Given the description of an element on the screen output the (x, y) to click on. 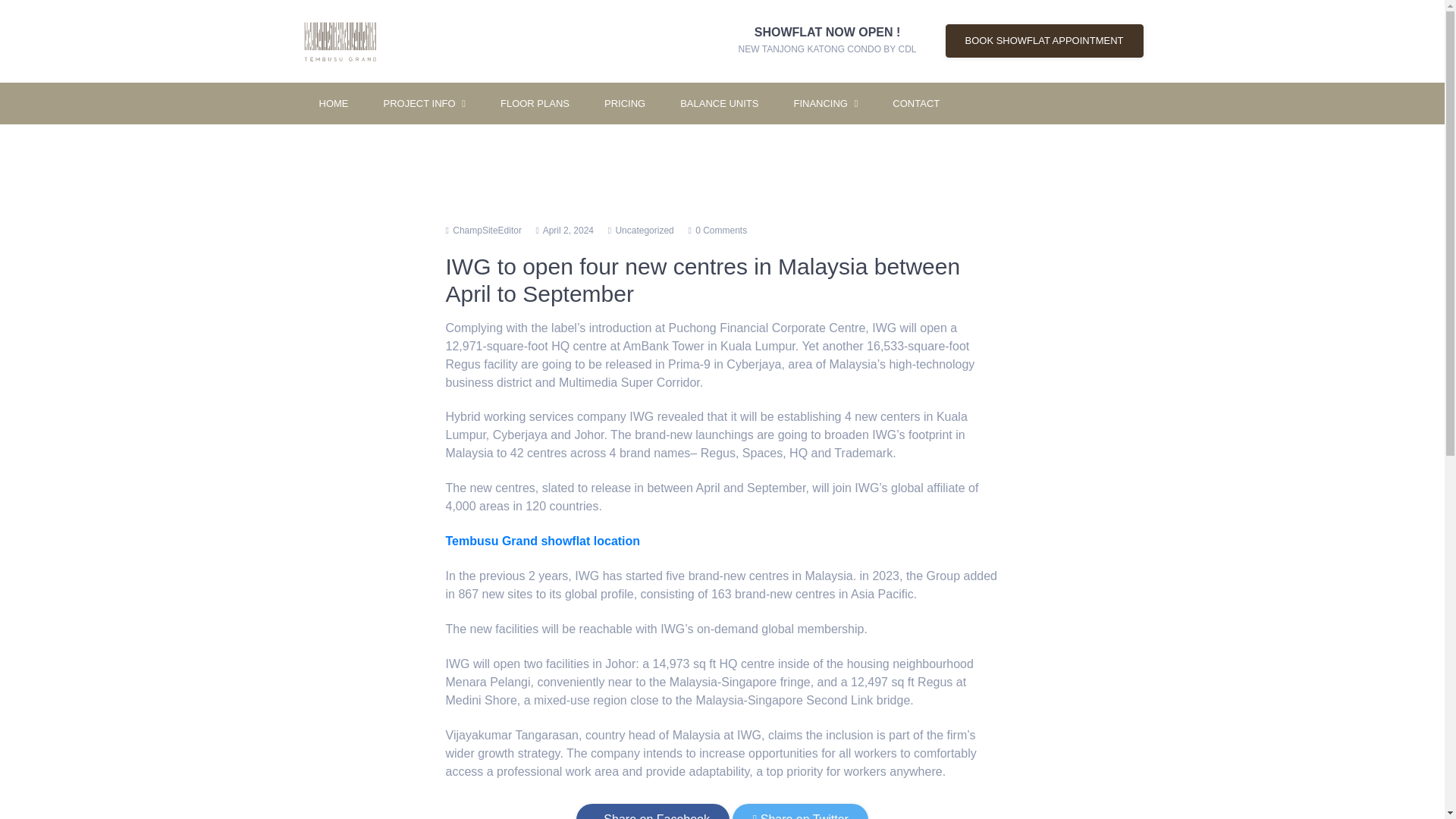
Share on Twitter (799, 811)
BOOK SHOWFLAT APPOINTMENT (1043, 40)
PROJECT INFO (423, 102)
Project Info (423, 102)
Balance Units (719, 102)
Financing (825, 102)
Share on Facebook (652, 811)
FLOOR PLANS (534, 102)
BALANCE UNITS (719, 102)
Floor Plans (534, 102)
HOME (333, 102)
0 Comments (720, 230)
Tembusu Grand showflat location (542, 540)
Uncategorized (827, 41)
